Given the description of an element on the screen output the (x, y) to click on. 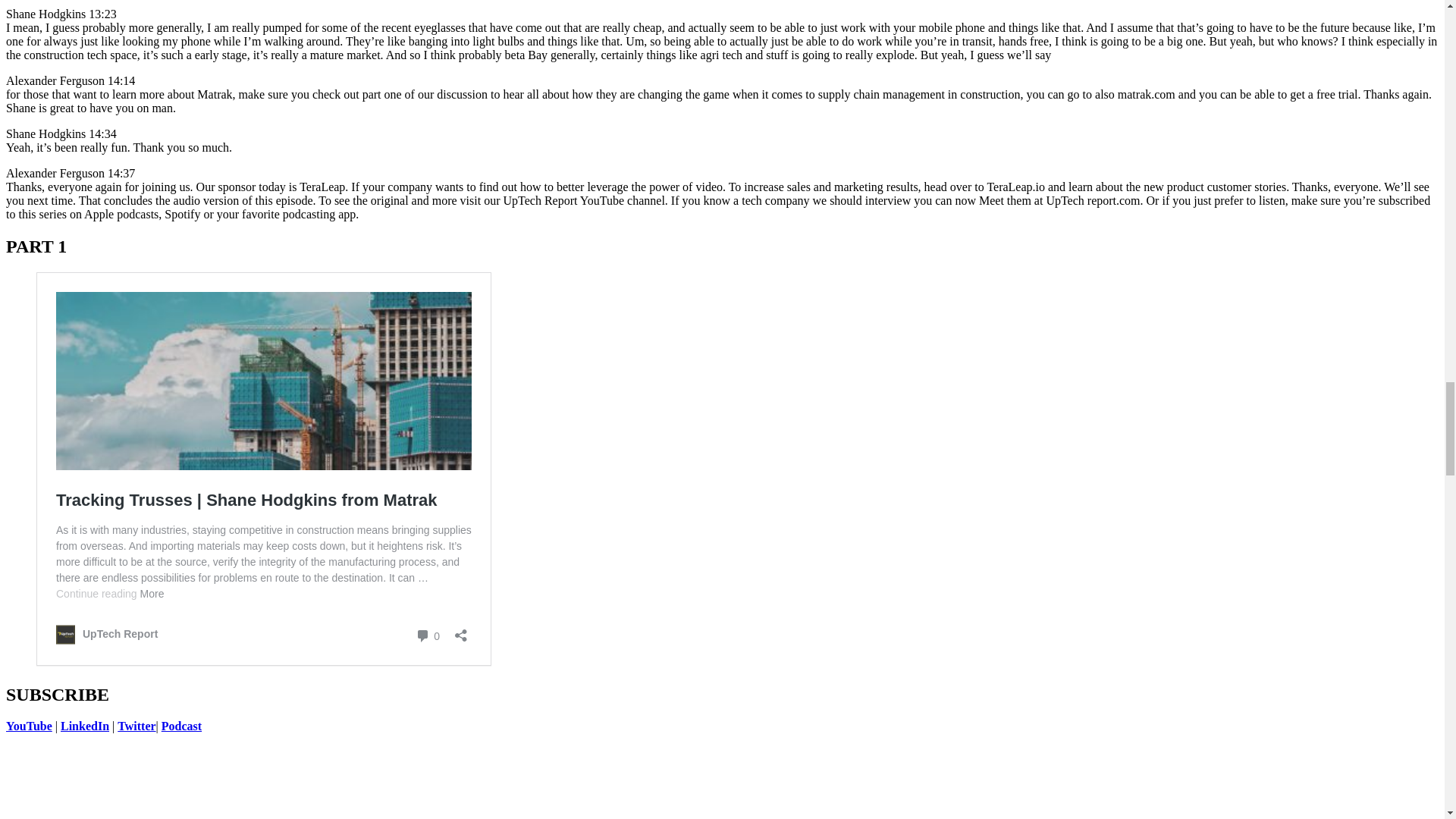
Twitter (136, 725)
Podcast (181, 725)
YouTube (28, 725)
LinkedIn (85, 725)
